Given the description of an element on the screen output the (x, y) to click on. 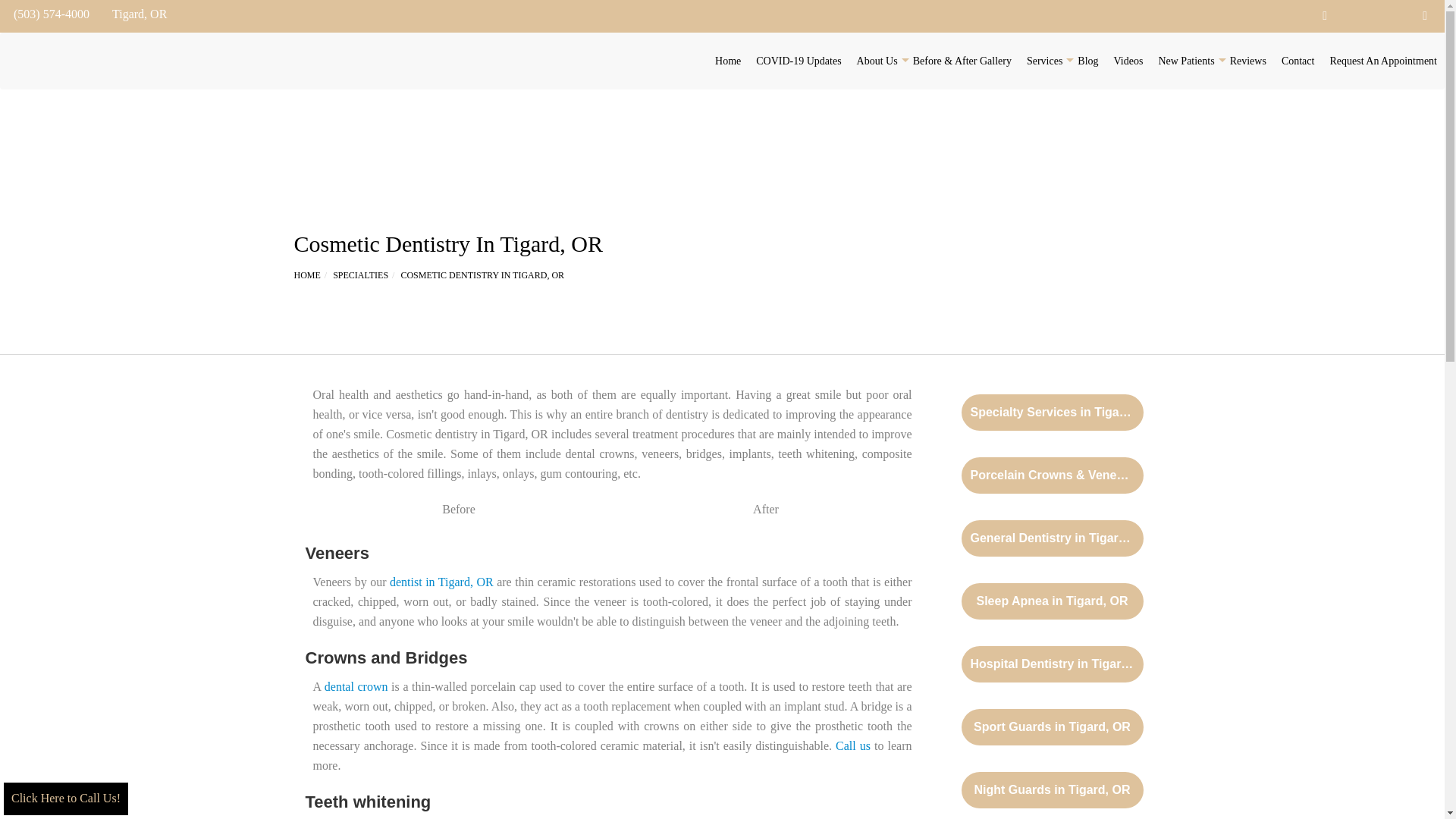
Tigard, OR (136, 14)
About Us (876, 60)
COVID-19 Updates (798, 60)
PS Dental (28, 60)
